Given the description of an element on the screen output the (x, y) to click on. 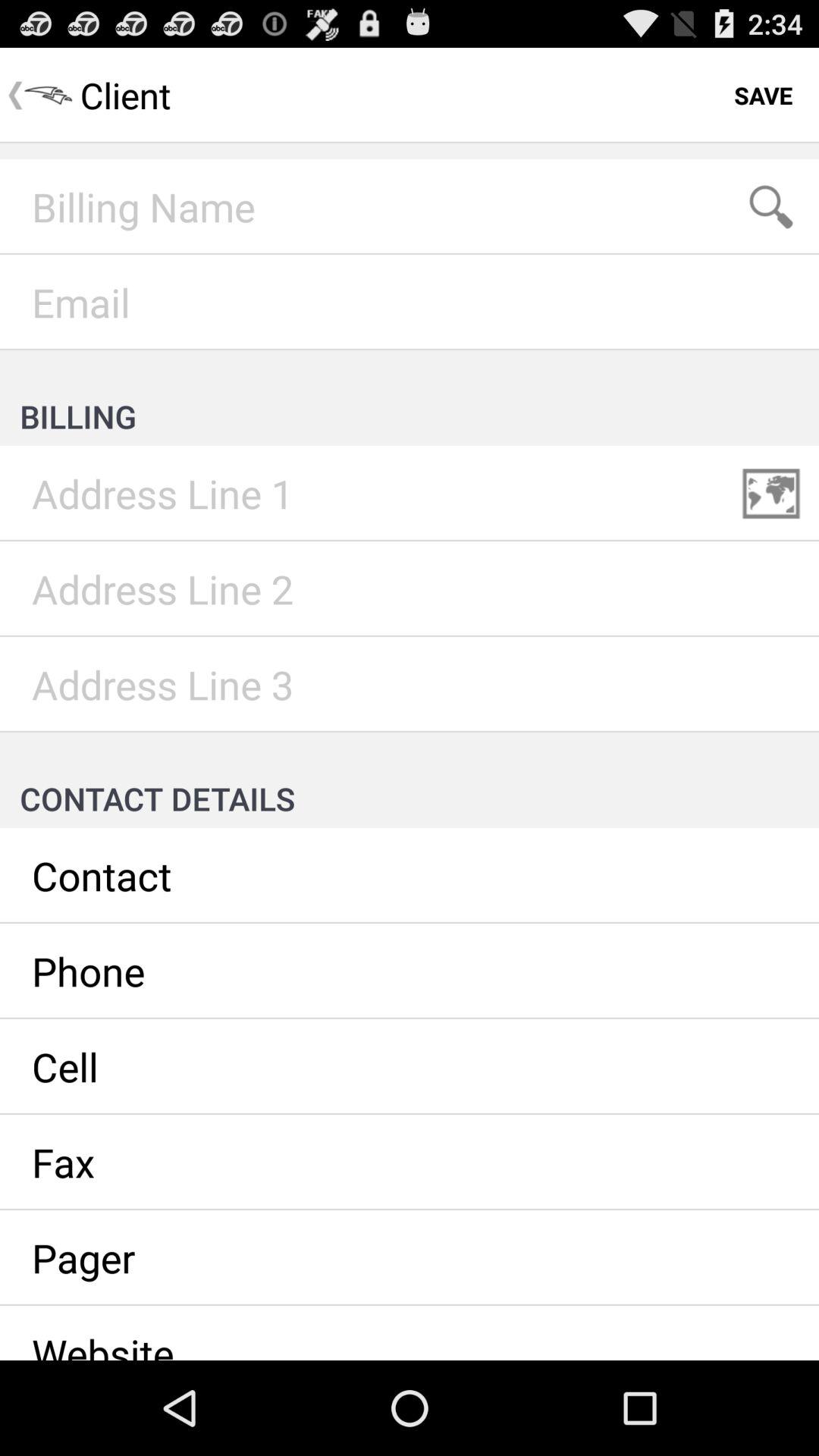
enter/view client 's phone number (409, 971)
